Given the description of an element on the screen output the (x, y) to click on. 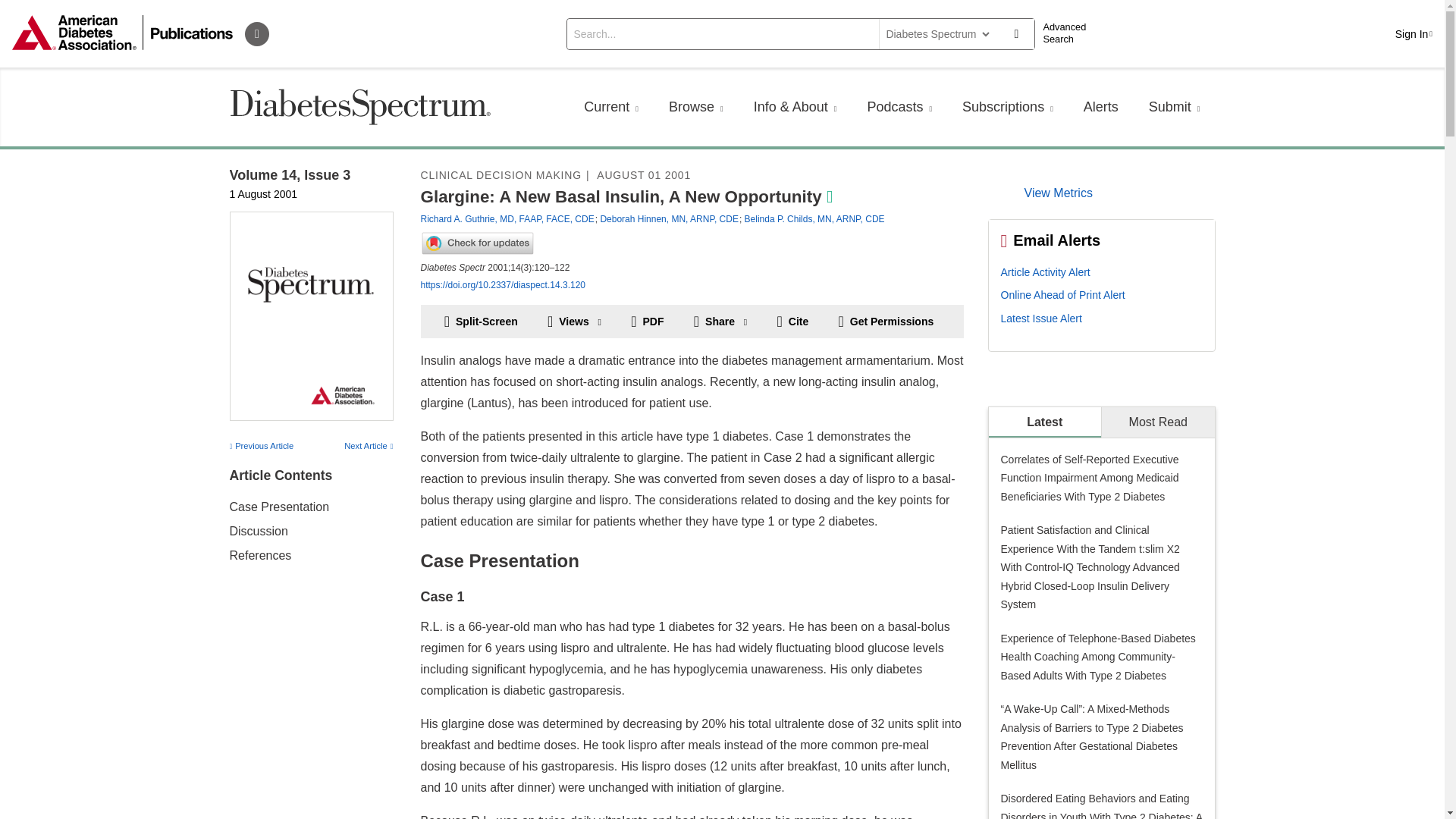
Discussion (257, 530)
Current (611, 106)
Browse (695, 106)
search input (721, 33)
Sign In (1413, 33)
Free (829, 197)
Advanced Search (1069, 33)
Case Presentation (278, 506)
References (259, 554)
